Given the description of an element on the screen output the (x, y) to click on. 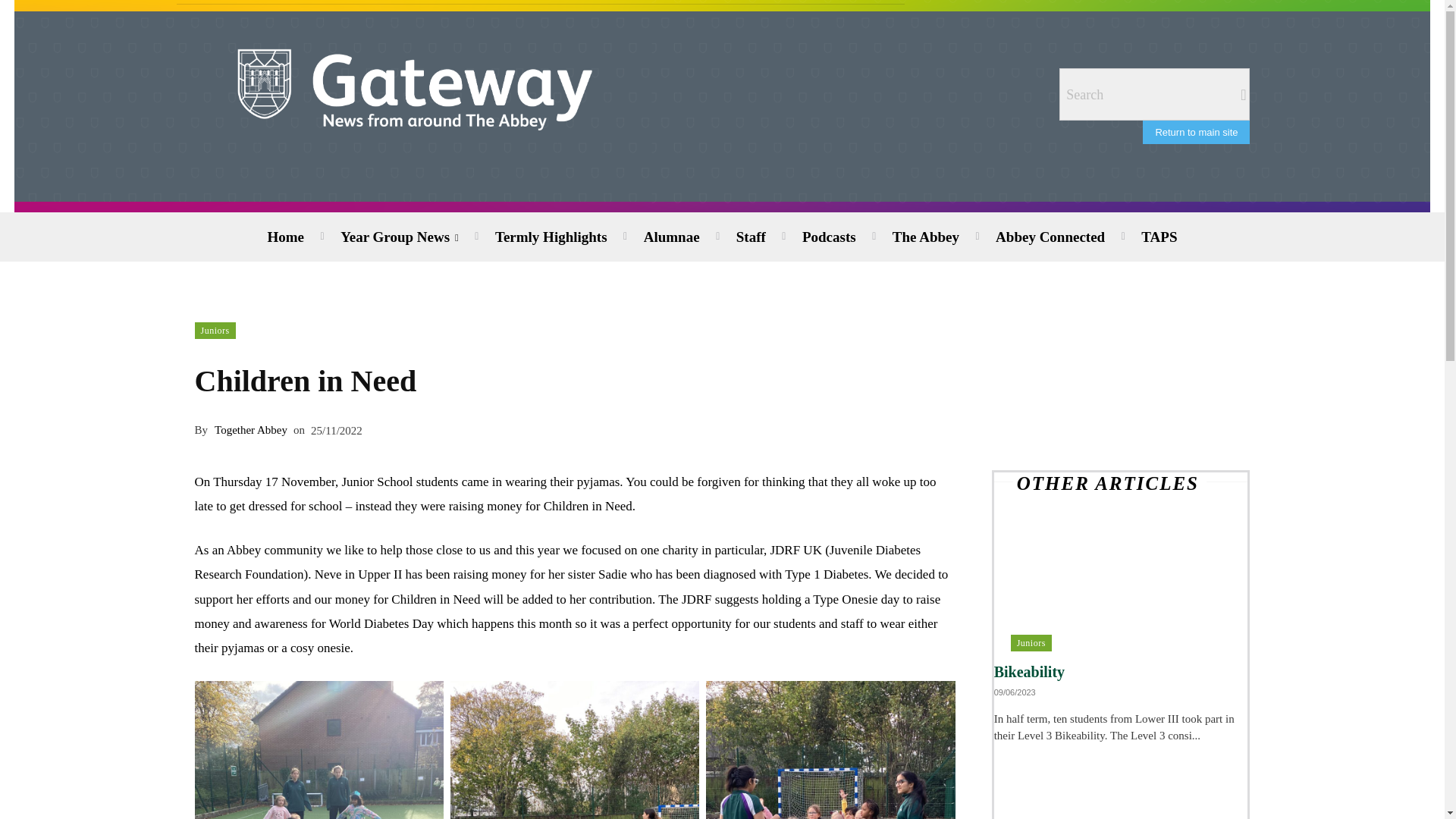
Bikeability (1120, 587)
Return to main site (1195, 132)
Visit to Christ Church (1120, 781)
Bikeability (1029, 671)
Year Group News (399, 236)
Home (284, 236)
Alumnae (671, 236)
Podcasts (828, 236)
Termly Highlights (551, 236)
Return to main site (1195, 132)
